Given the description of an element on the screen output the (x, y) to click on. 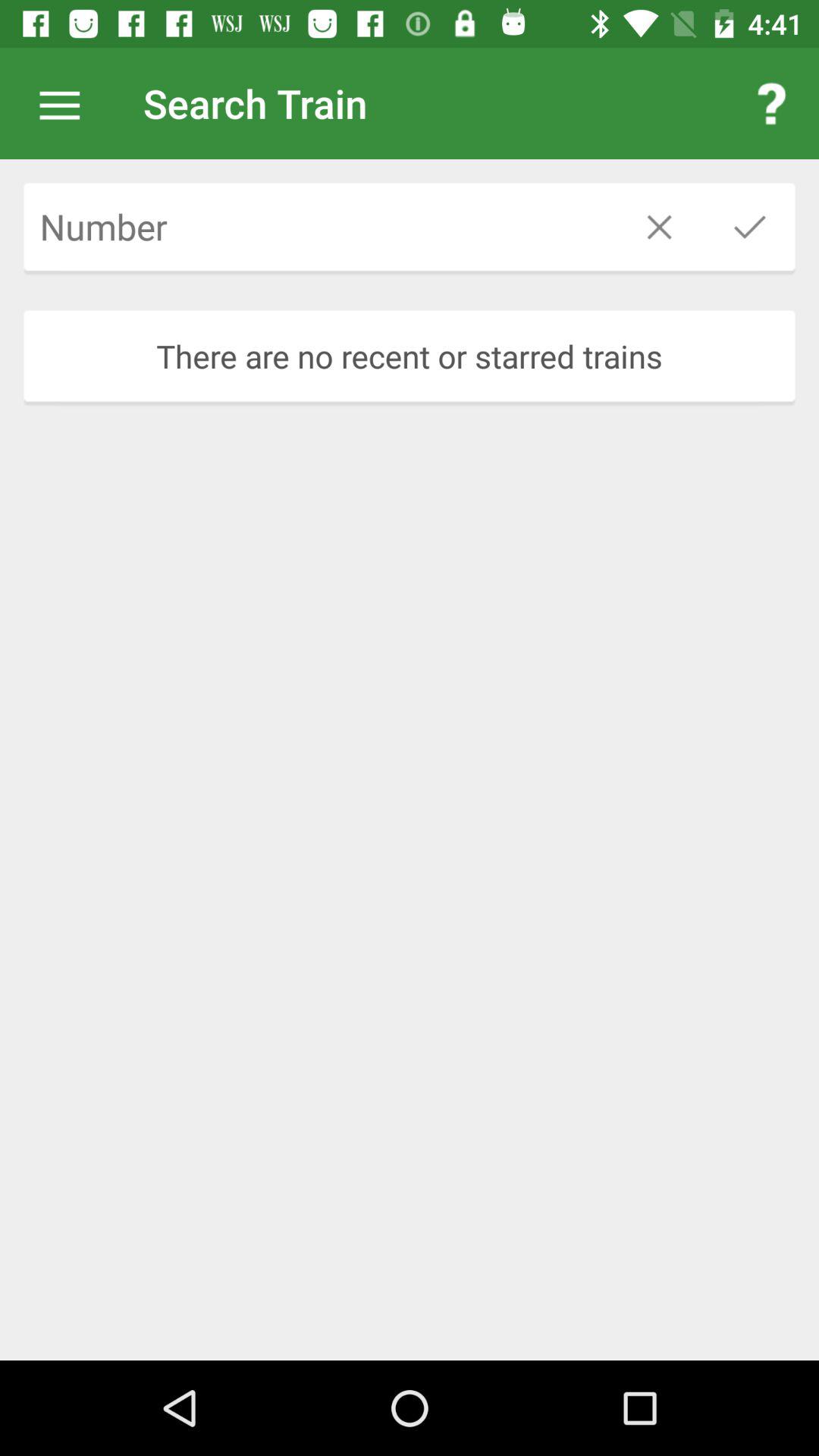
pull up menu (67, 103)
